Given the description of an element on the screen output the (x, y) to click on. 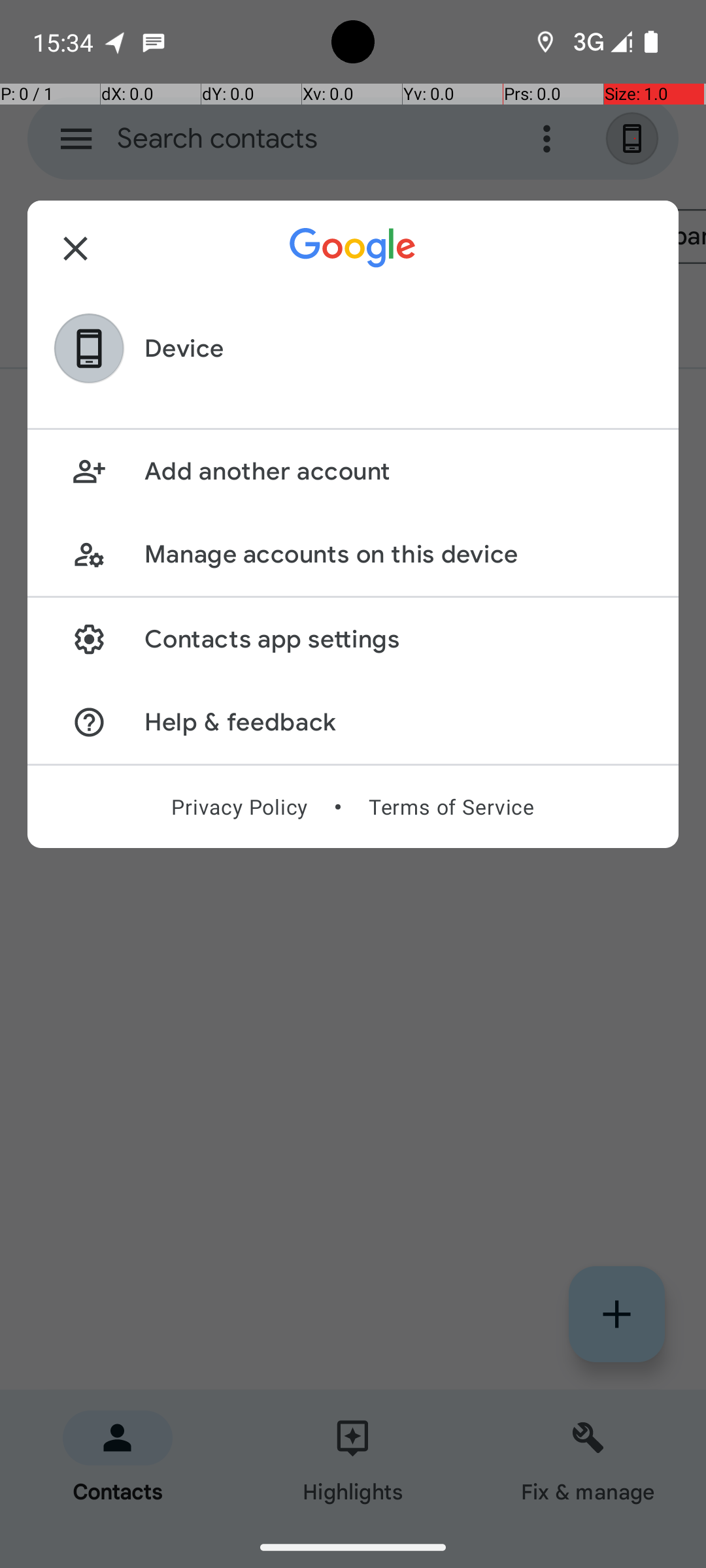
Close Element type: android.widget.ImageView (75, 248)
Privacy Policy Element type: android.widget.Button (239, 806)
Terms of Service Element type: android.widget.Button (450, 806)
Device Element type: android.widget.TextView (184, 348)
Add another account Element type: android.widget.TextView (397, 471)
Manage accounts on this device Element type: android.widget.TextView (397, 554)
Contacts app settings Element type: android.widget.TextView (397, 638)
Help & feedback Element type: android.widget.TextView (397, 721)
SMS Messenger notification: Noa Mohamed Element type: android.widget.ImageView (153, 41)
